Given the description of an element on the screen output the (x, y) to click on. 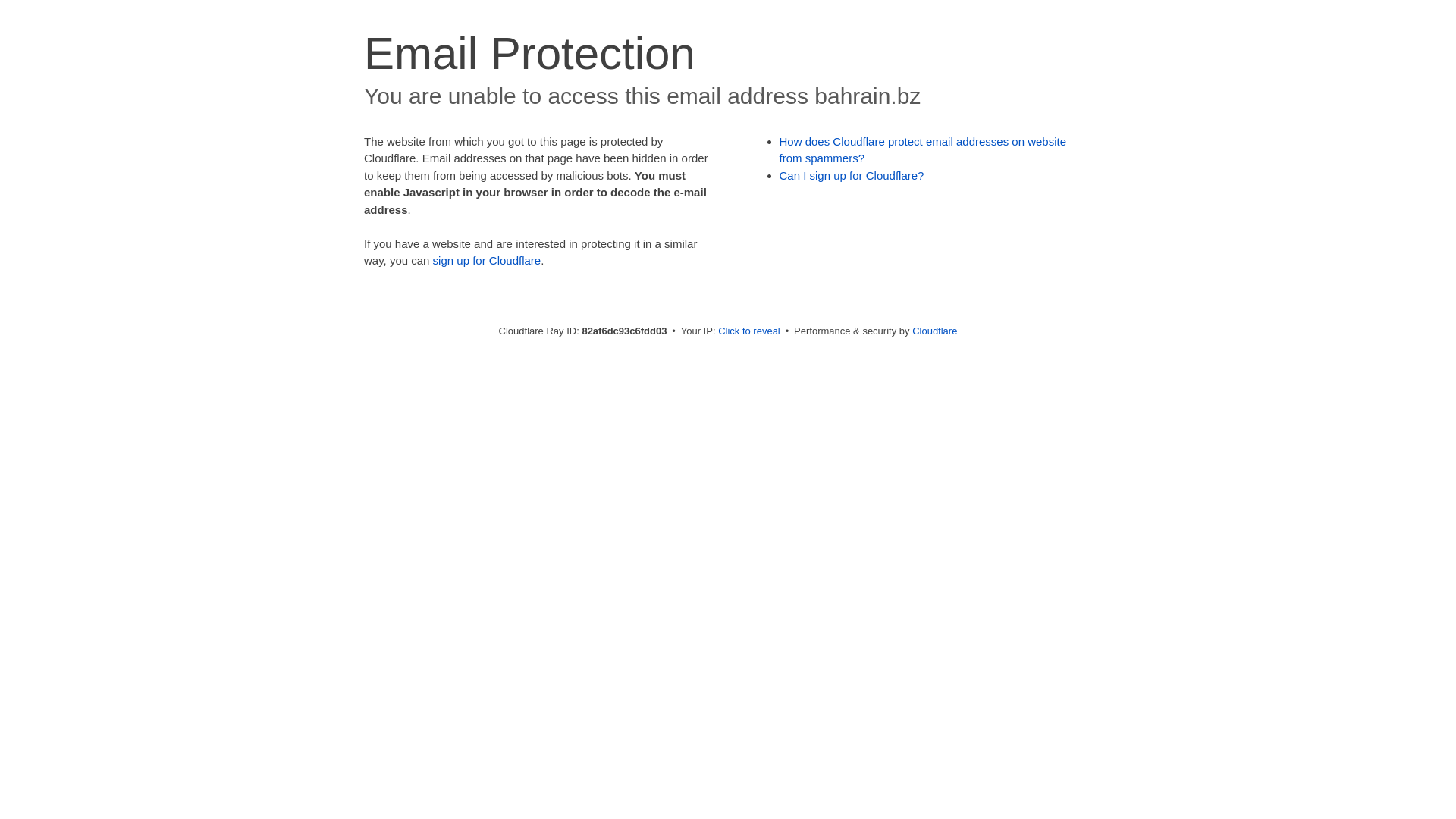
Cloudflare Element type: text (934, 330)
sign up for Cloudflare Element type: text (487, 260)
Can I sign up for Cloudflare? Element type: text (851, 175)
Click to reveal Element type: text (749, 330)
